Given the description of an element on the screen output the (x, y) to click on. 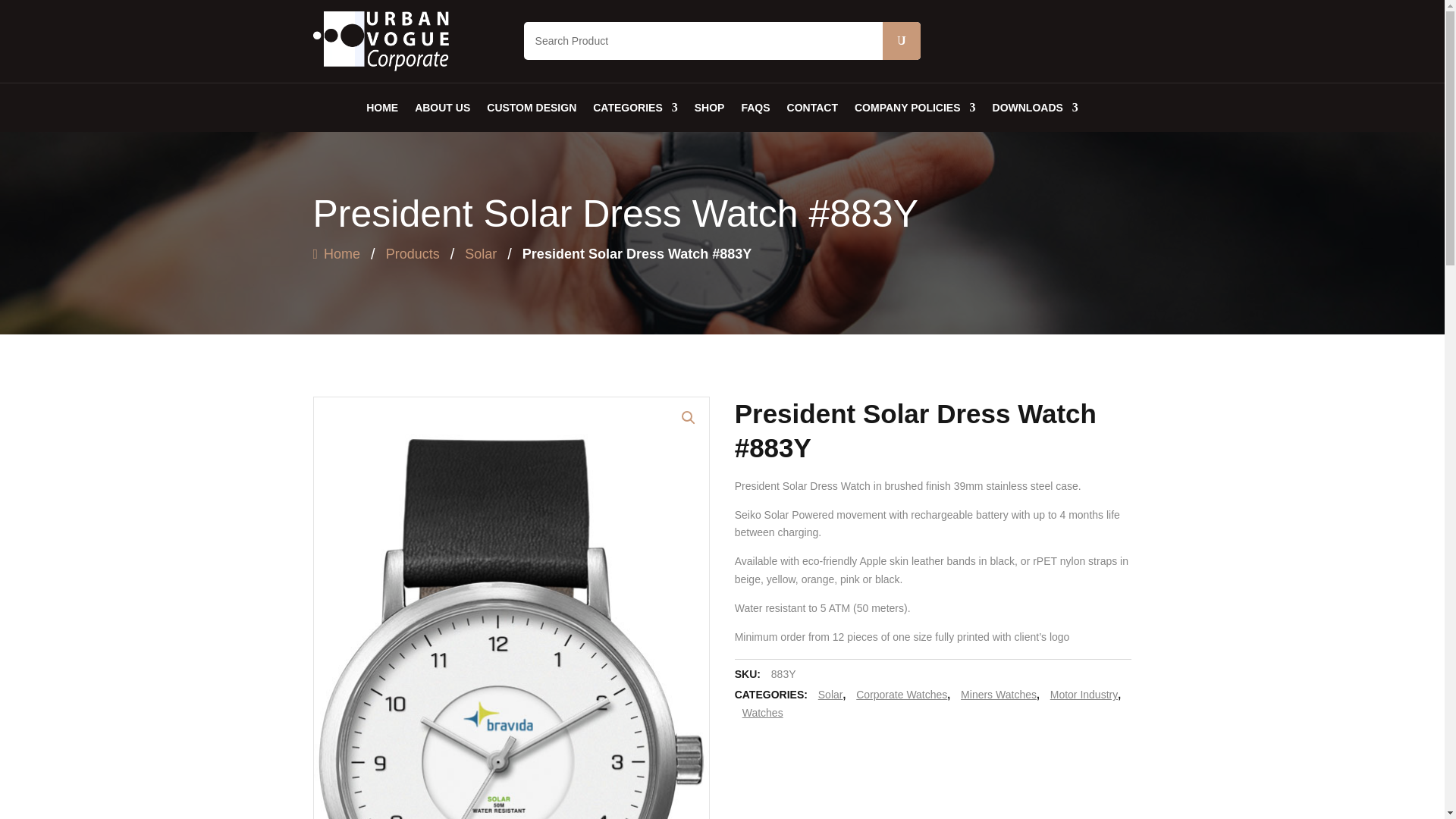
Solar (480, 253)
DOWNLOADS (1035, 107)
COMPANY POLICIES (914, 107)
Products (412, 253)
Search (901, 40)
Home (336, 253)
Search (901, 40)
Urban Vogue Logo (380, 41)
CATEGORIES (635, 107)
ABOUT US (442, 107)
Search (901, 40)
CONTACT (812, 107)
CUSTOM DESIGN (531, 107)
